Given the description of an element on the screen output the (x, y) to click on. 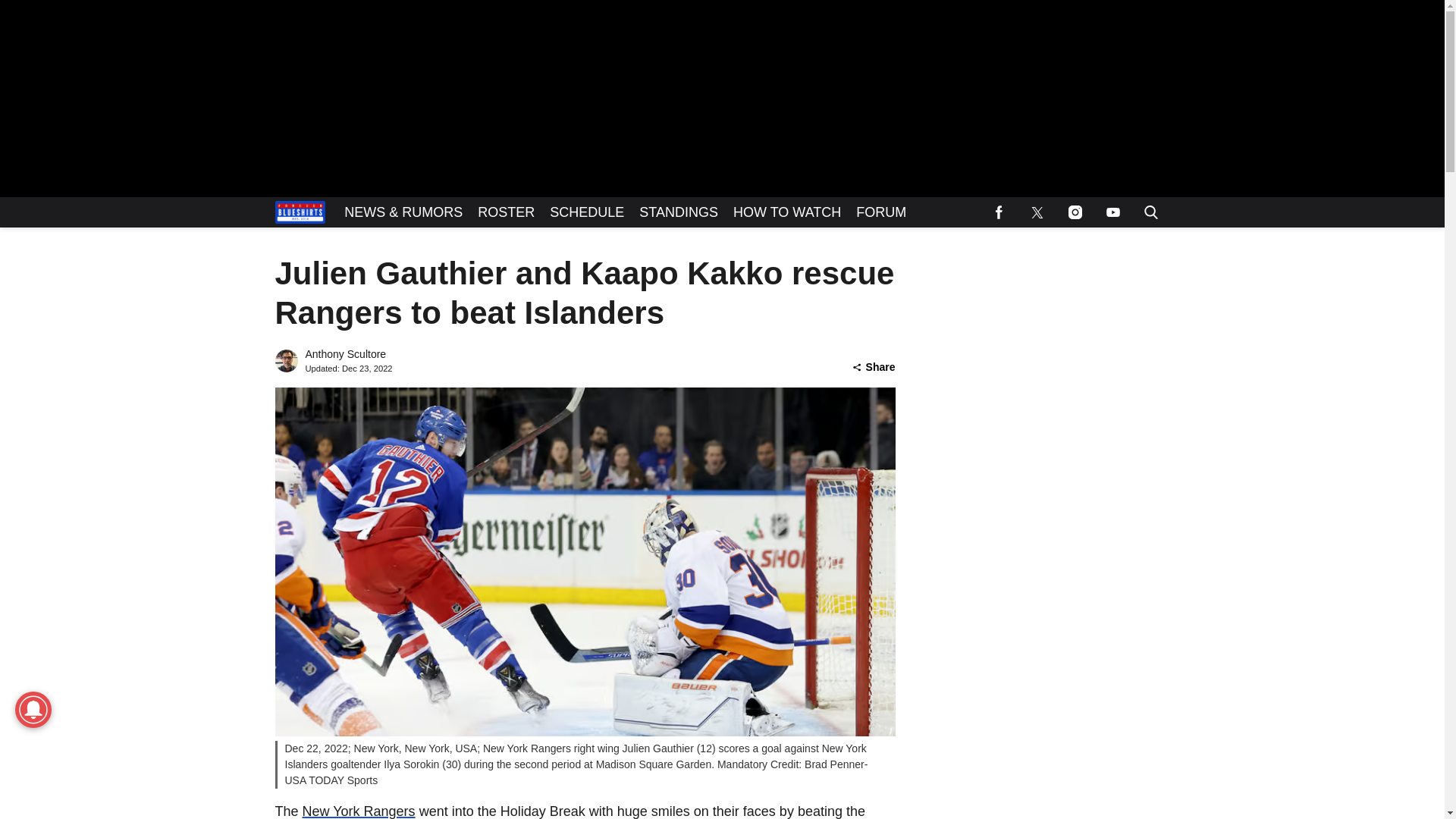
Subscribe to our YouTube channel (1112, 212)
Follow us on Facebook (998, 212)
SCHEDULE (586, 212)
ROSTER (505, 212)
FORUM (881, 212)
Follow us on Twitter (1036, 212)
HOW TO WATCH (786, 212)
Follow us on Instagram (1074, 212)
STANDINGS (678, 212)
New York Rangers (358, 811)
Posts by Anthony Scultore (344, 354)
Anthony Scultore (344, 354)
